Given the description of an element on the screen output the (x, y) to click on. 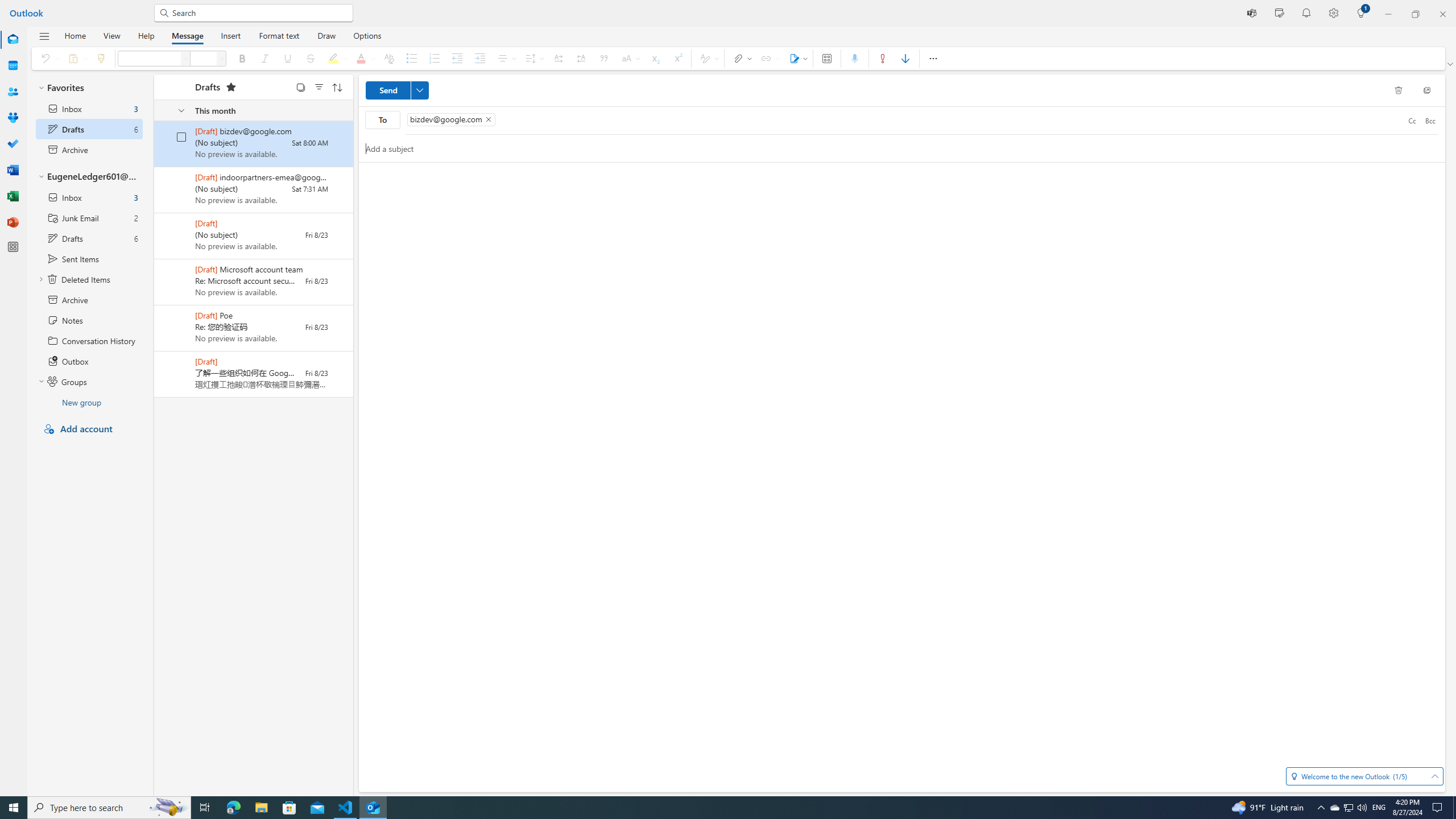
bizdev@google.com (451, 119)
Underline (287, 58)
Insert (230, 35)
Low importance (905, 58)
To (382, 119)
Groups (12, 118)
Paste (76, 58)
Superscript (676, 58)
Mark as unread (154, 374)
Help (146, 35)
Search (258, 12)
Bullets (411, 58)
Align (505, 58)
